Given the description of an element on the screen output the (x, y) to click on. 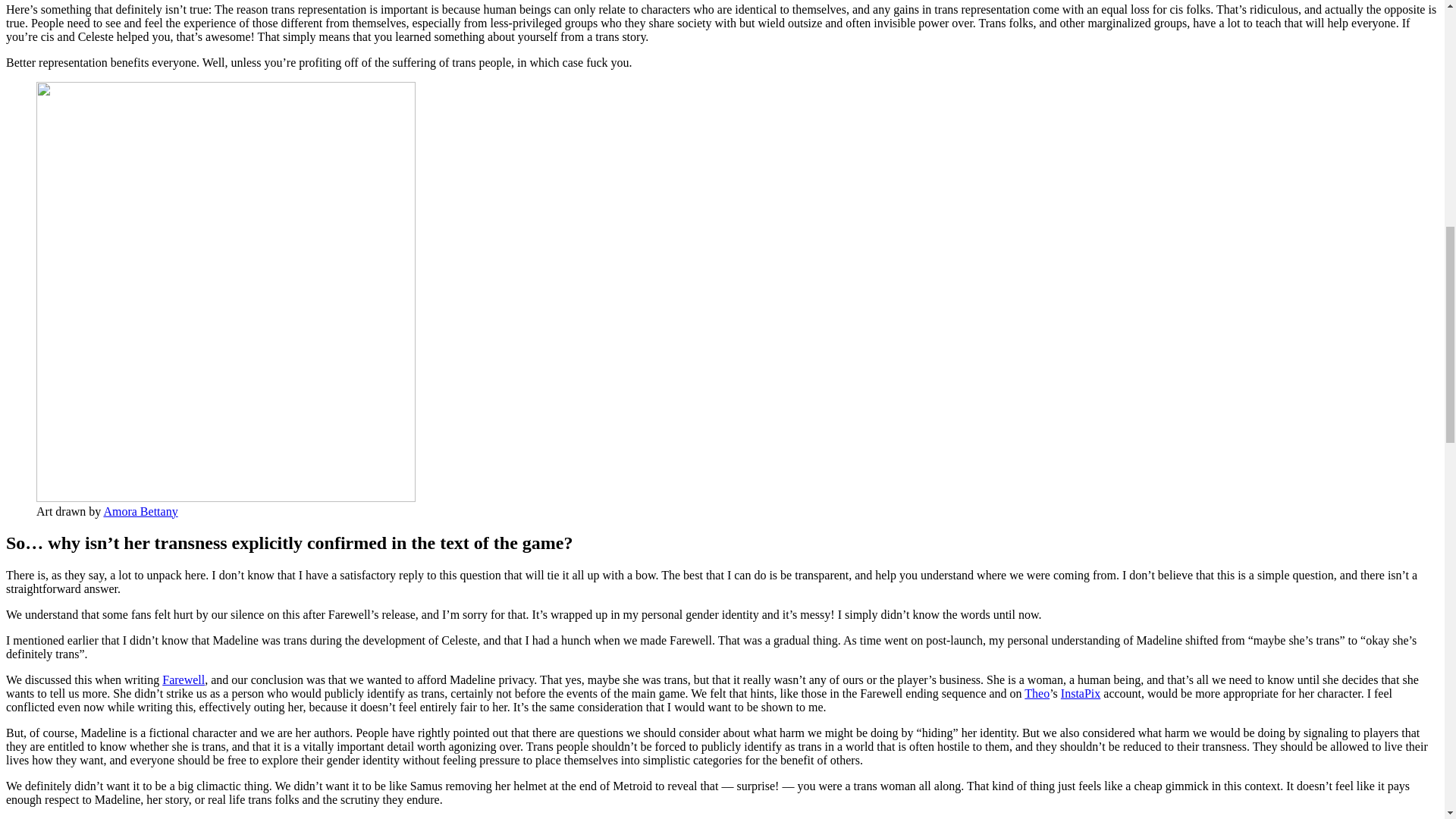
Amora Bettany (140, 511)
Farewell (183, 679)
InstaPix (1080, 693)
Amora Bettany (140, 511)
InstaPix (1080, 693)
Theo (1037, 693)
Farewell (183, 679)
Theo (1037, 693)
